Given the description of an element on the screen output the (x, y) to click on. 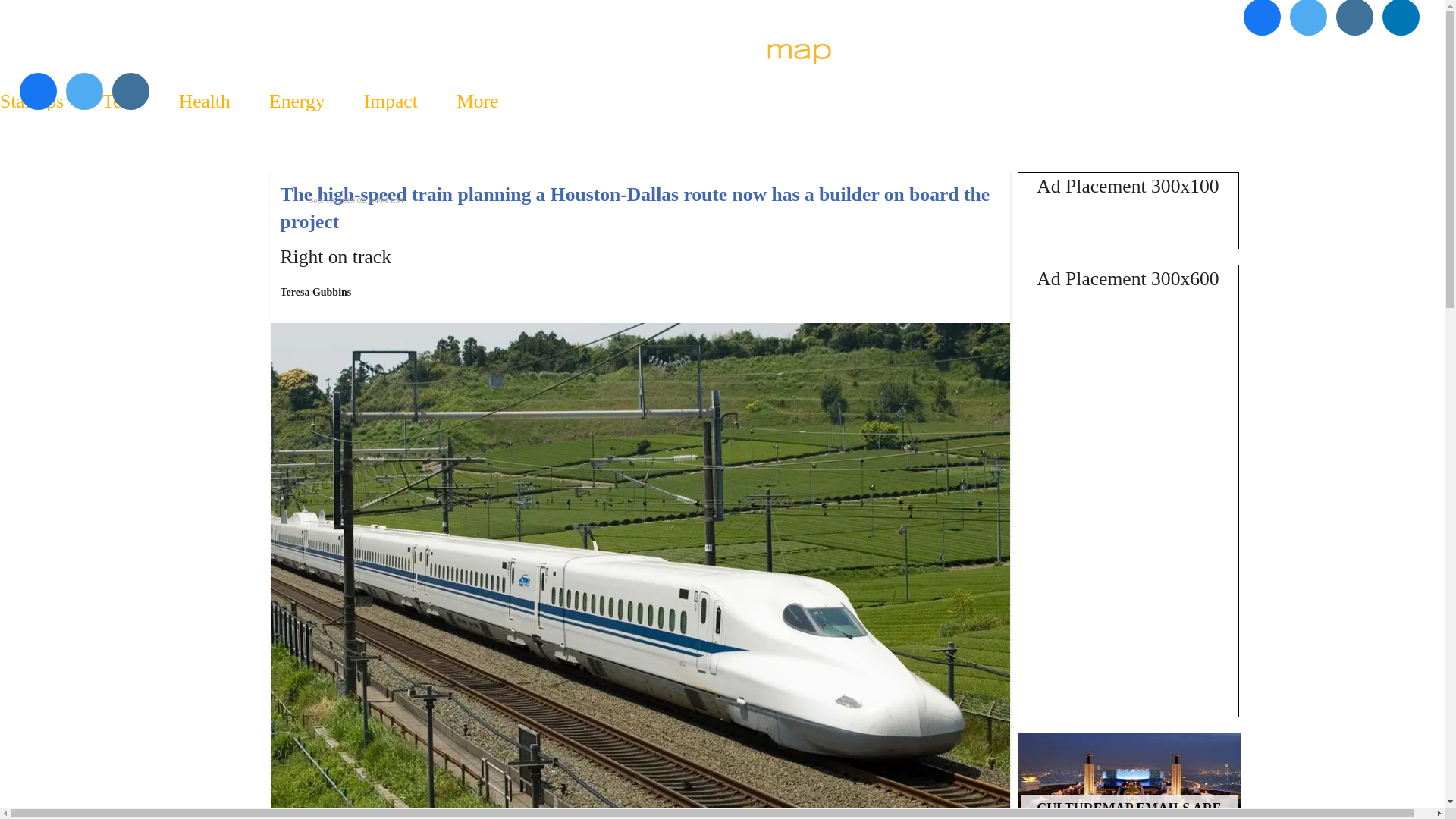
More (477, 100)
Teresa Gubbins (316, 291)
Impact (389, 100)
Health (203, 100)
Startups (41, 100)
Energy (295, 100)
Tech (121, 100)
